Given the description of an element on the screen output the (x, y) to click on. 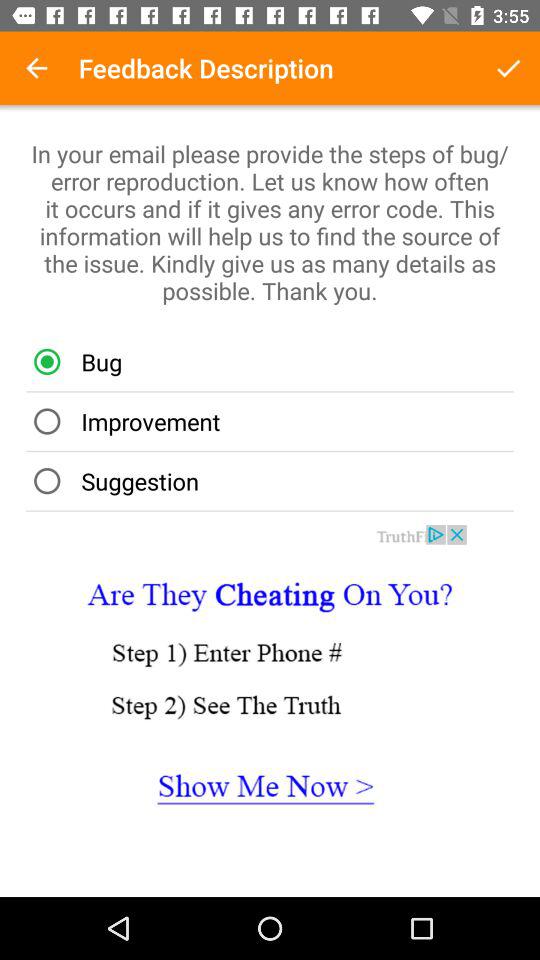
open advertisement (269, 689)
